Given the description of an element on the screen output the (x, y) to click on. 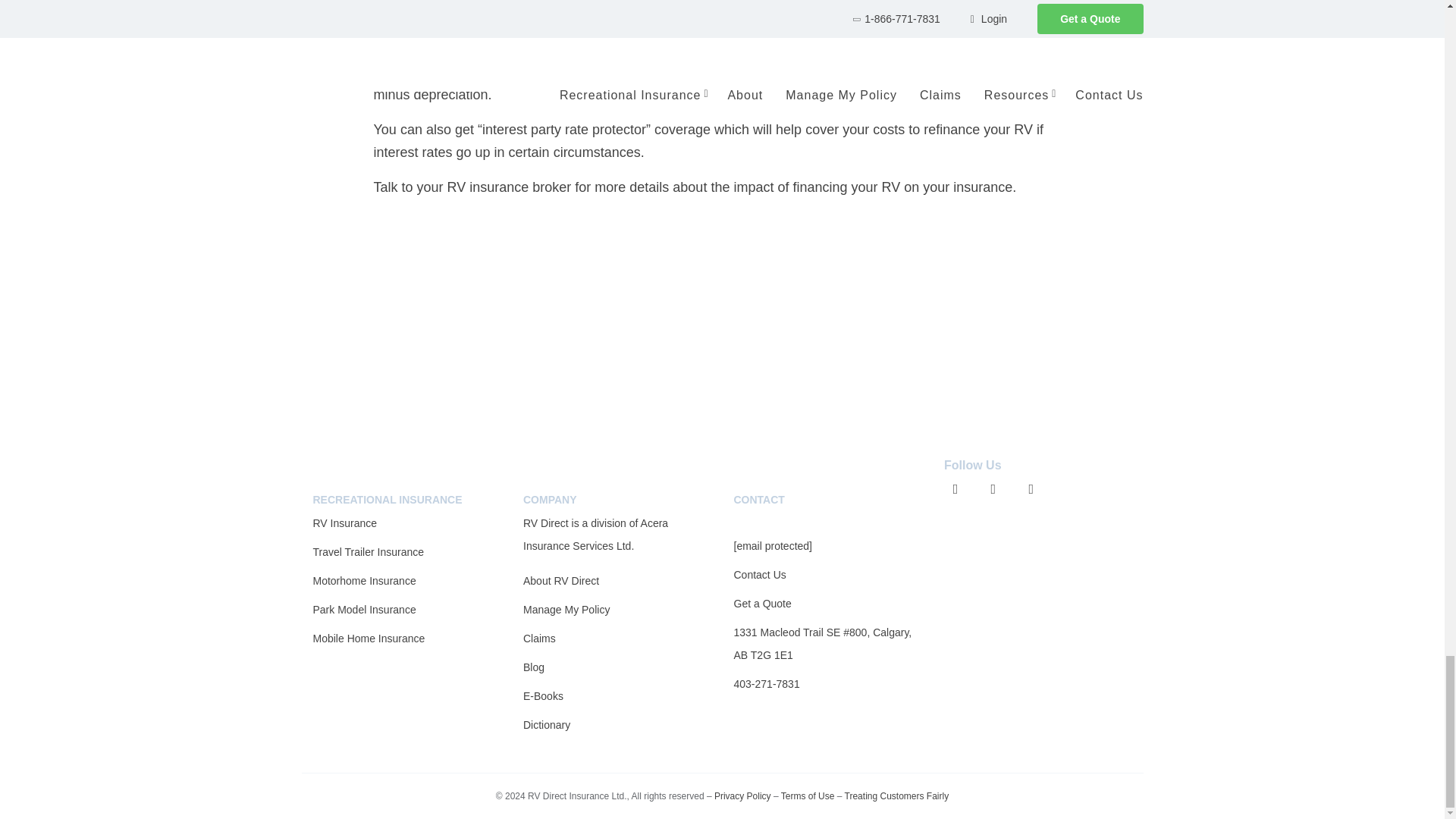
Manage My Policy (566, 609)
Motorhome Insurance (363, 580)
E-Books (542, 695)
RV Insurance (345, 522)
Dictionary (546, 725)
Mobile Home Insurance (369, 638)
Travel Trailer Insurance (368, 551)
About RV Direct (560, 580)
Park Model Insurance (363, 609)
Claims (539, 638)
